Given the description of an element on the screen output the (x, y) to click on. 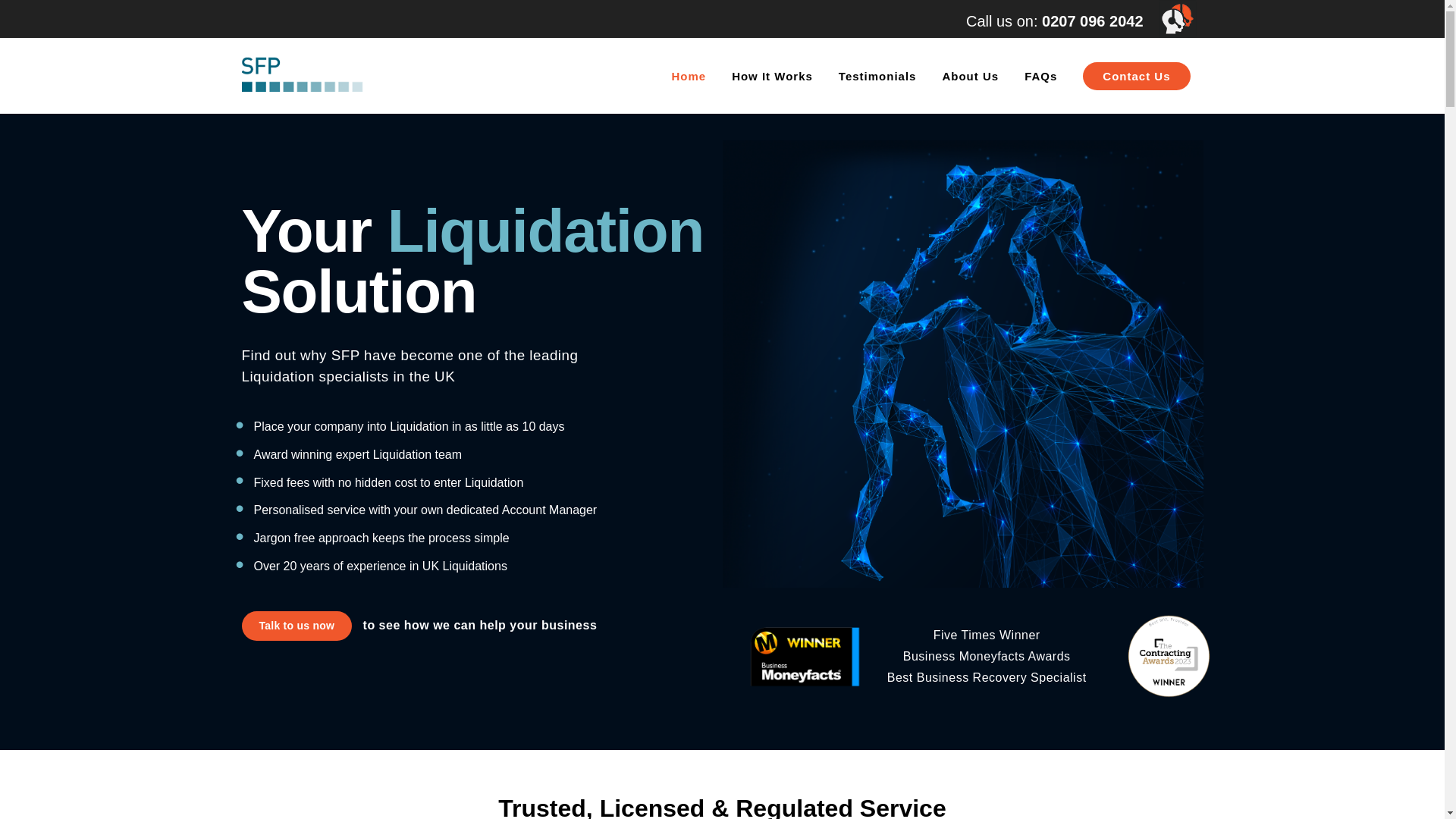
Contact Us (1136, 76)
FAQs (1041, 75)
Home (688, 75)
About Us (970, 75)
Testimonials (877, 75)
Talk to us now (296, 625)
How It Works (772, 75)
